Given the description of an element on the screen output the (x, y) to click on. 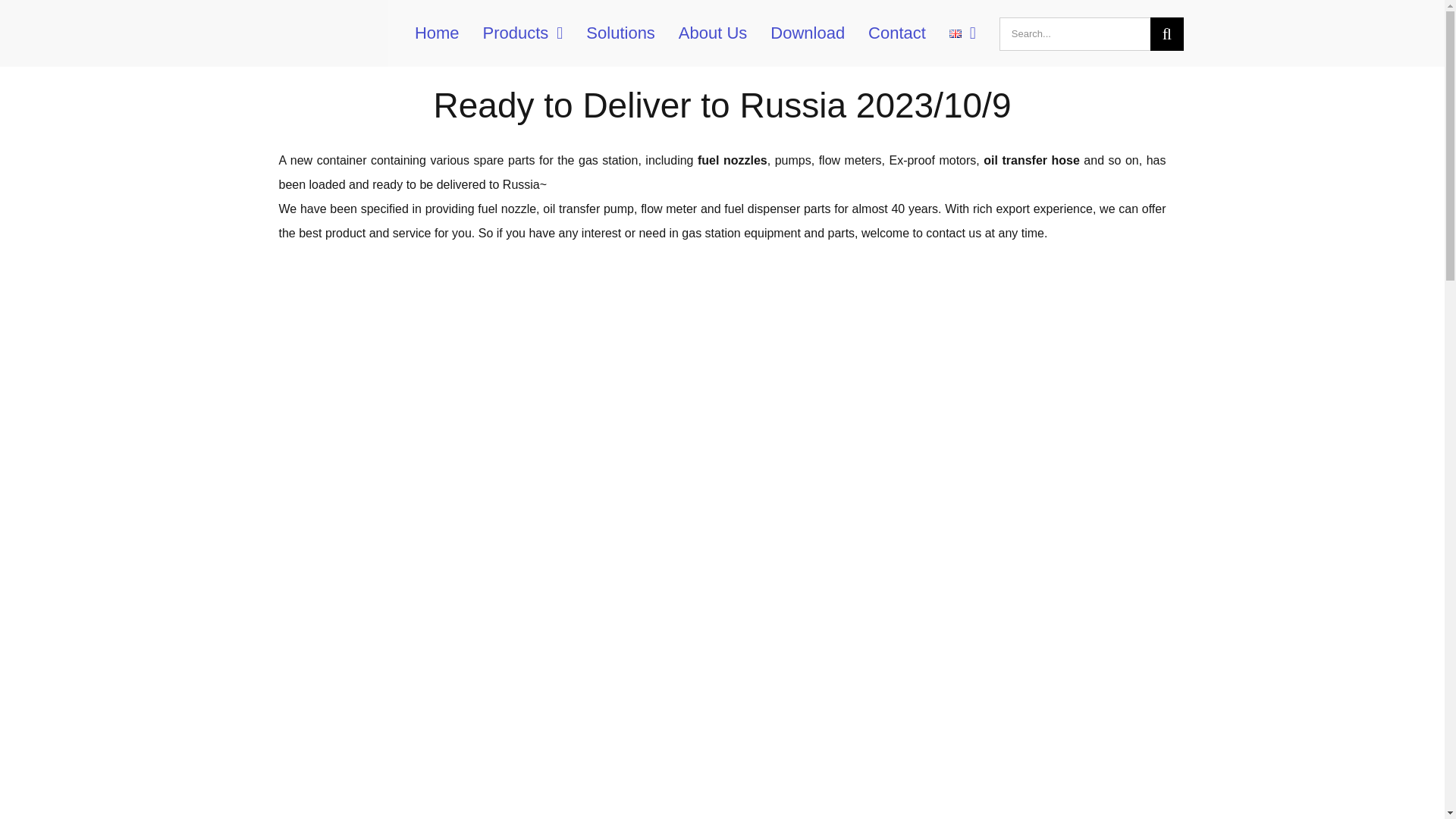
Products (523, 33)
oil transfer hose (1032, 160)
fuel nozzles (732, 160)
Solutions (620, 33)
About Us (713, 33)
Download (807, 33)
